Given the description of an element on the screen output the (x, y) to click on. 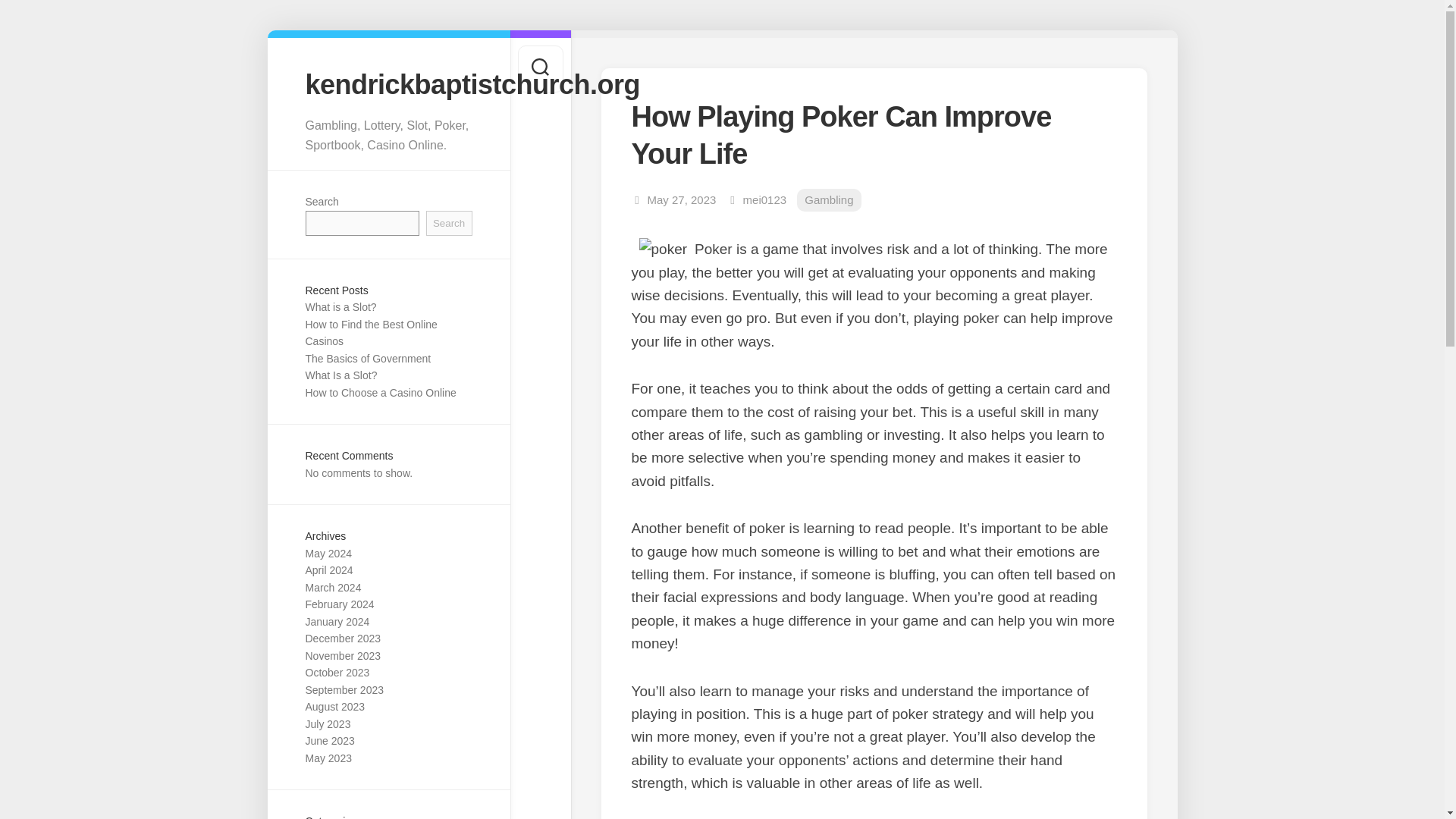
November 2023 (342, 655)
kendrickbaptistchurch.org (387, 83)
April 2024 (328, 570)
How to Find the Best Online Casinos (370, 333)
June 2023 (328, 740)
January 2024 (336, 621)
October 2023 (336, 672)
May 2024 (327, 553)
December 2023 (342, 638)
What Is a Slot? (340, 375)
